Given the description of an element on the screen output the (x, y) to click on. 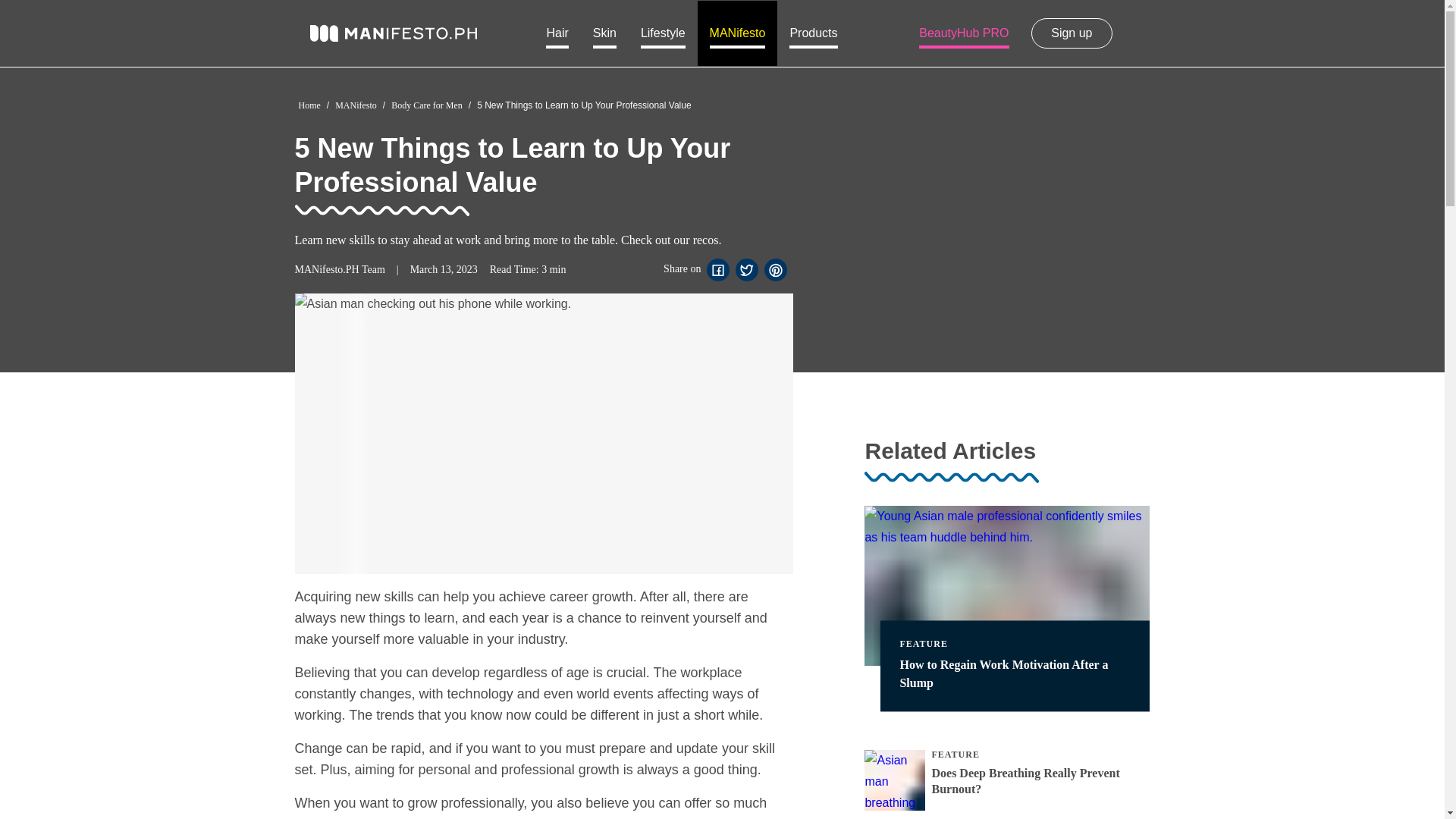
Skin (604, 33)
Sign up (1071, 33)
Twitter (746, 269)
Hair (556, 33)
Facebook (717, 269)
MANifesto (737, 33)
Products (812, 33)
Lifestyle (662, 33)
Pinterest (775, 269)
